Given the description of an element on the screen output the (x, y) to click on. 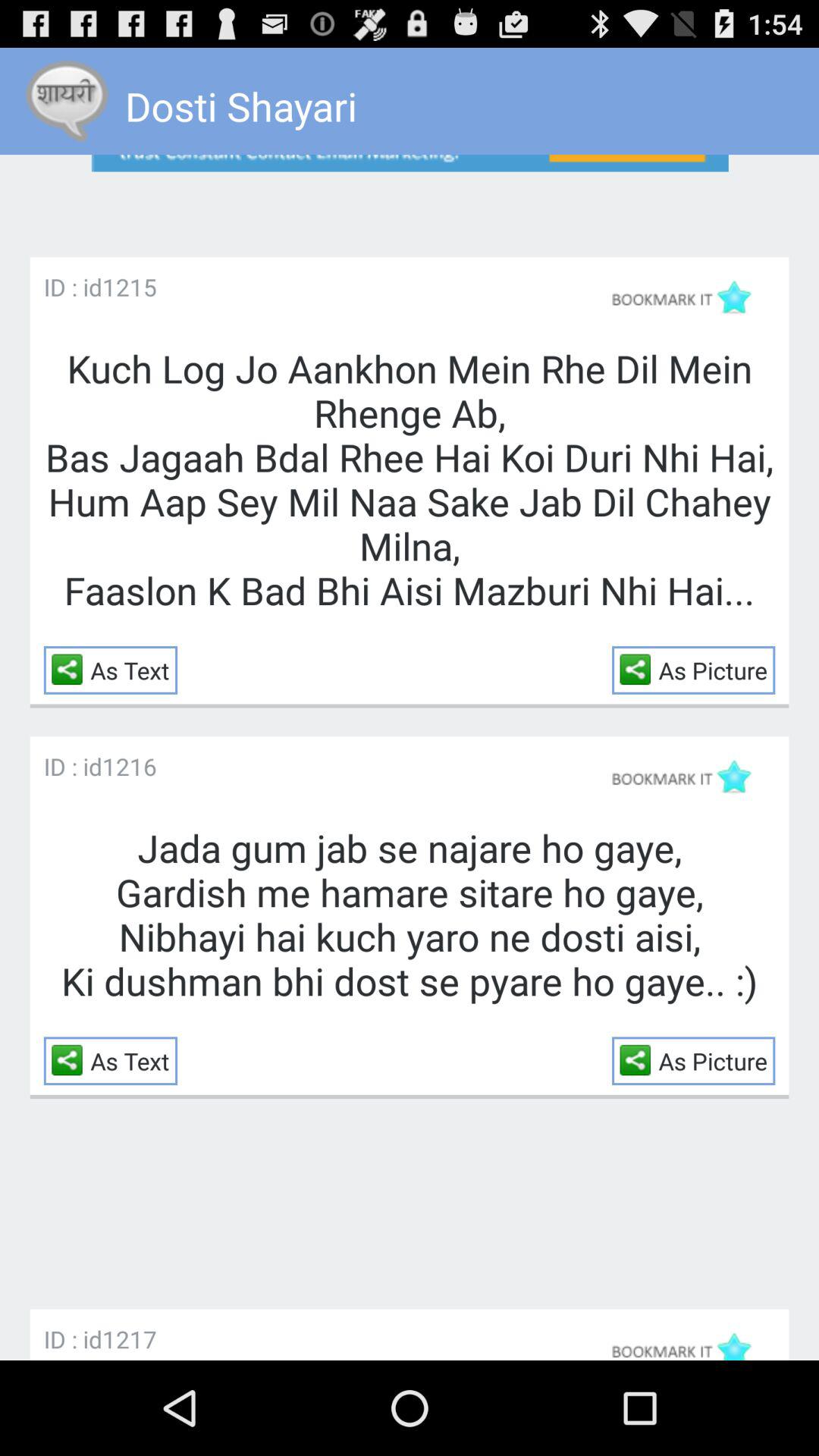
open app next to the id : id icon (129, 1338)
